Given the description of an element on the screen output the (x, y) to click on. 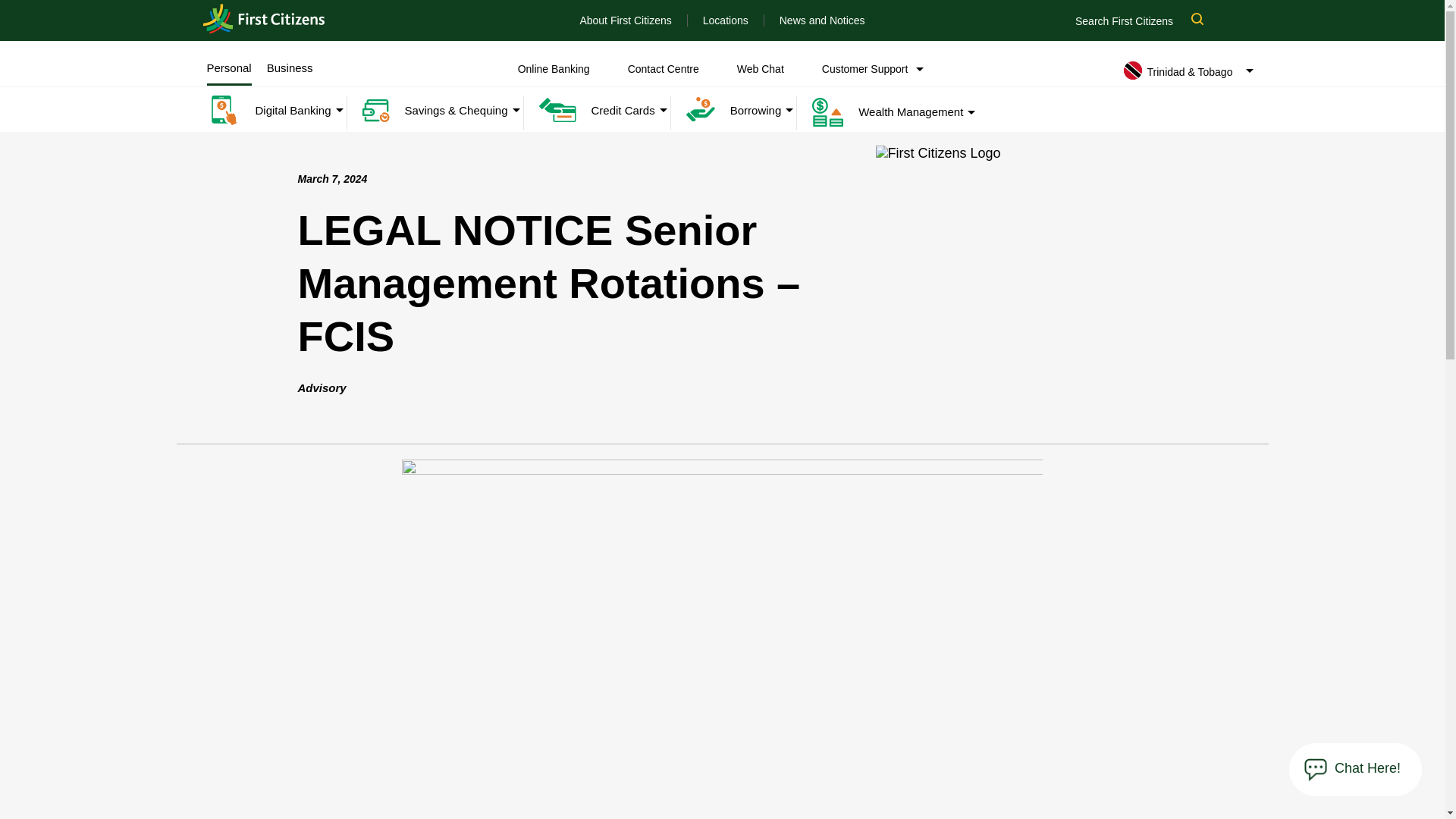
Trinidad and Tobago (263, 20)
Personal (228, 68)
Trinidad and Tobago (263, 19)
Digital Banking (268, 110)
Wealth Management (879, 112)
About First Citizens (625, 20)
Locations (725, 20)
News and Notices (821, 20)
Business (289, 68)
Borrowing (726, 110)
Click for Chat Support (1367, 768)
Credit Cards (587, 110)
Search First Citizens (1146, 20)
